Given the description of an element on the screen output the (x, y) to click on. 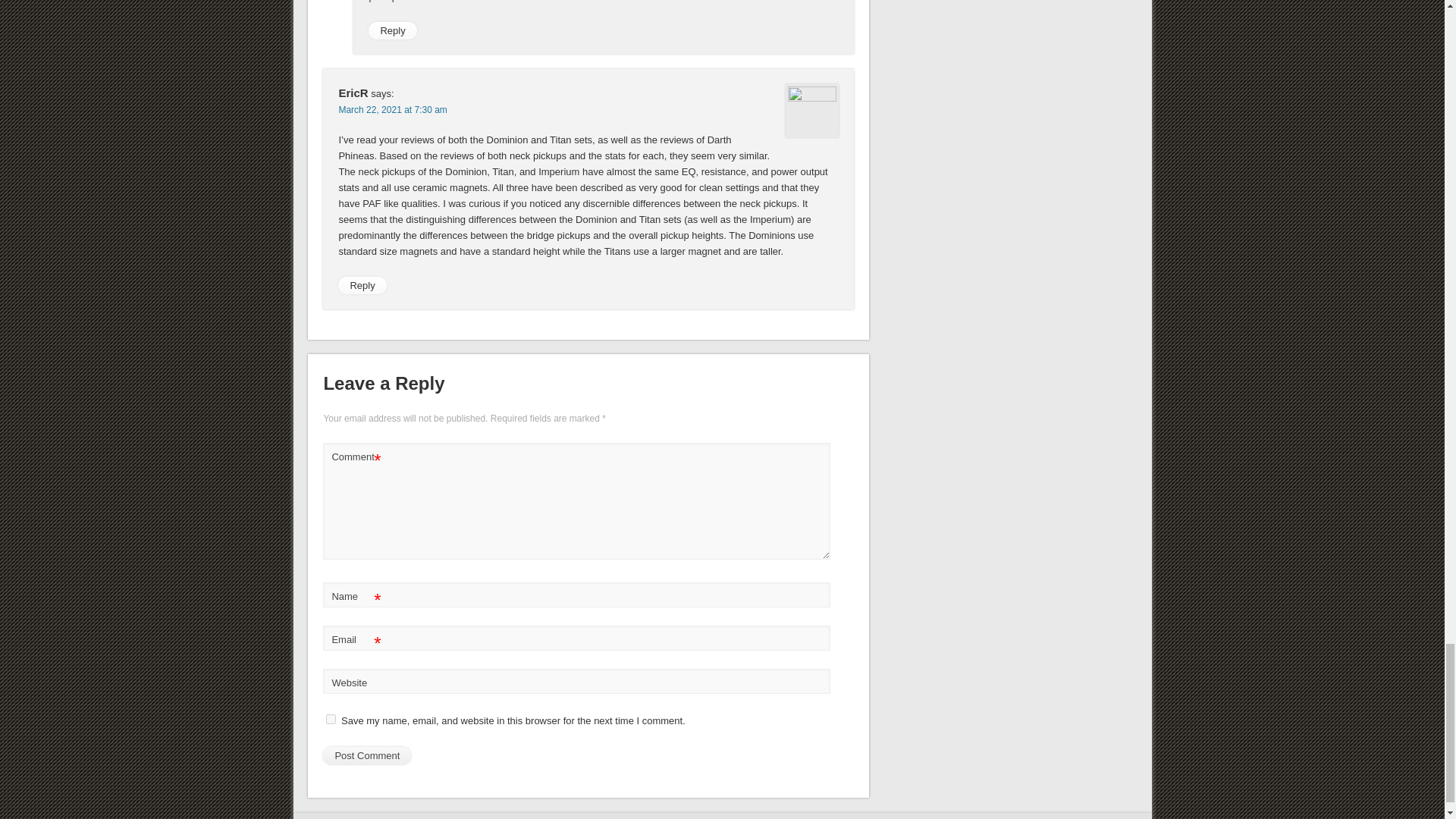
Post Comment (366, 755)
yes (331, 718)
